Given the description of an element on the screen output the (x, y) to click on. 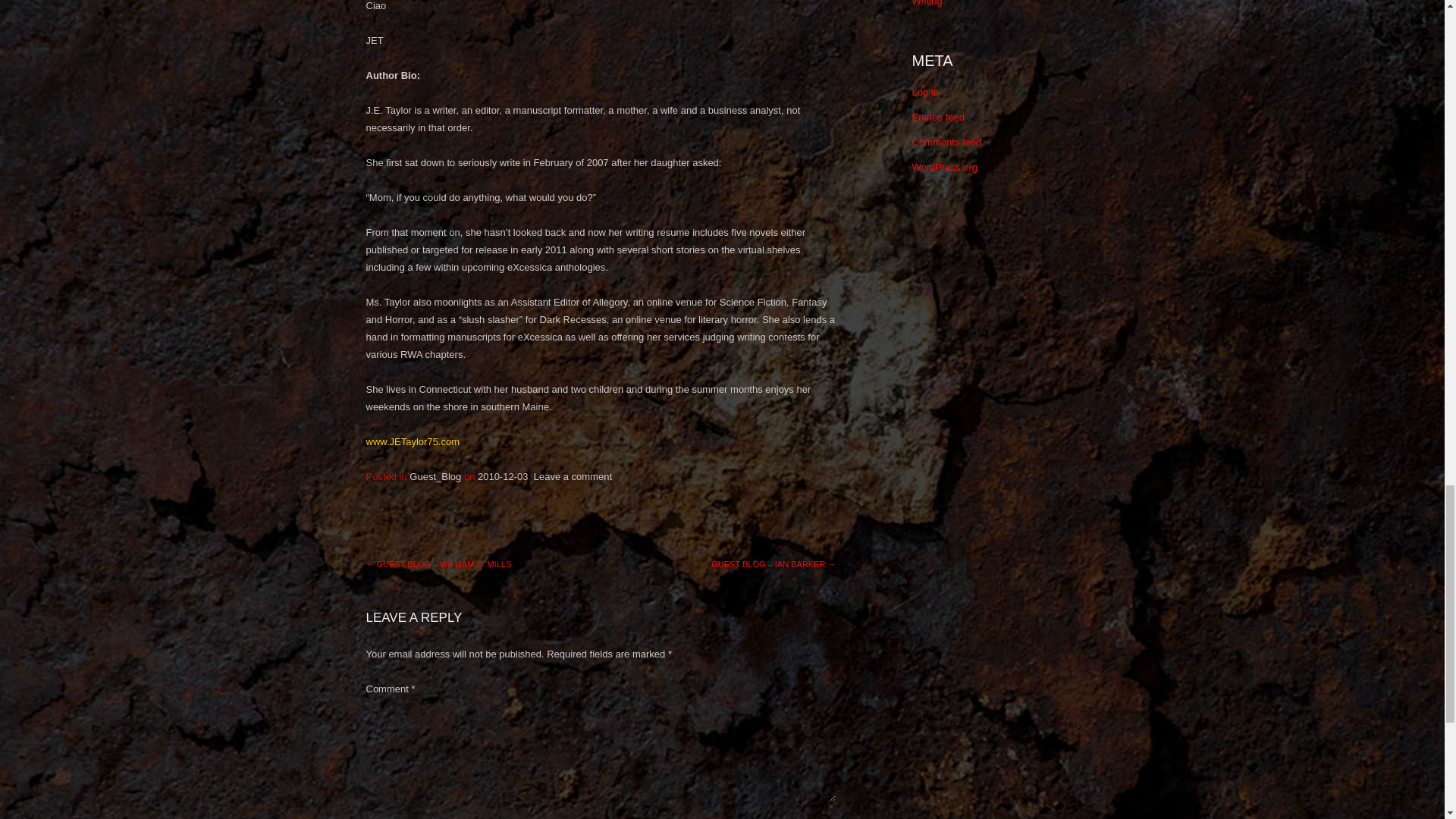
Leave a comment (572, 476)
www.JETaylor75.com (412, 441)
2010-12-03 (502, 476)
8:08 am (502, 476)
